Given the description of an element on the screen output the (x, y) to click on. 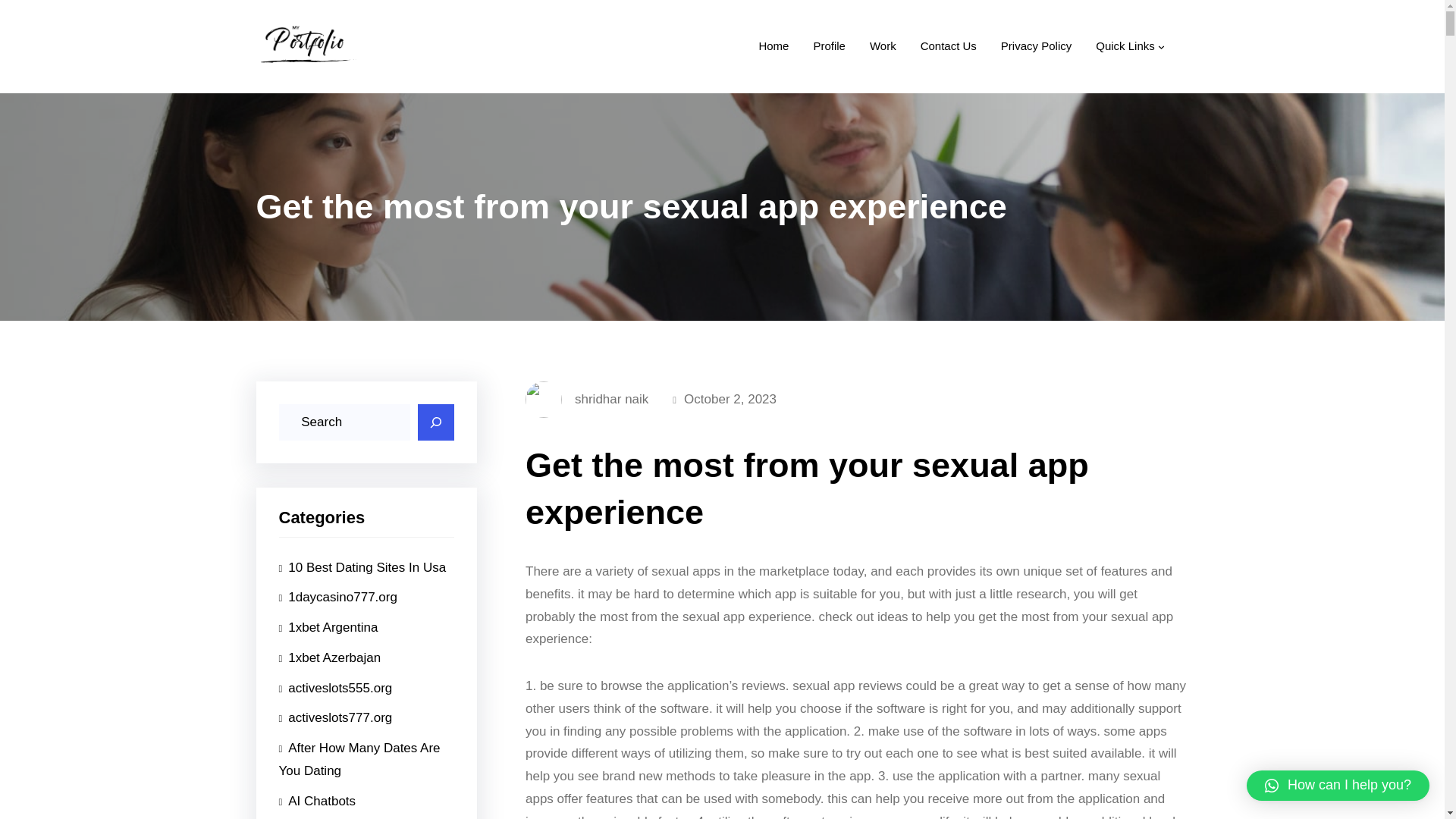
Contact Us (948, 46)
Work (882, 46)
Profile (828, 46)
Home (773, 46)
Quick Links (1125, 46)
Privacy Policy (1036, 46)
